Given the description of an element on the screen output the (x, y) to click on. 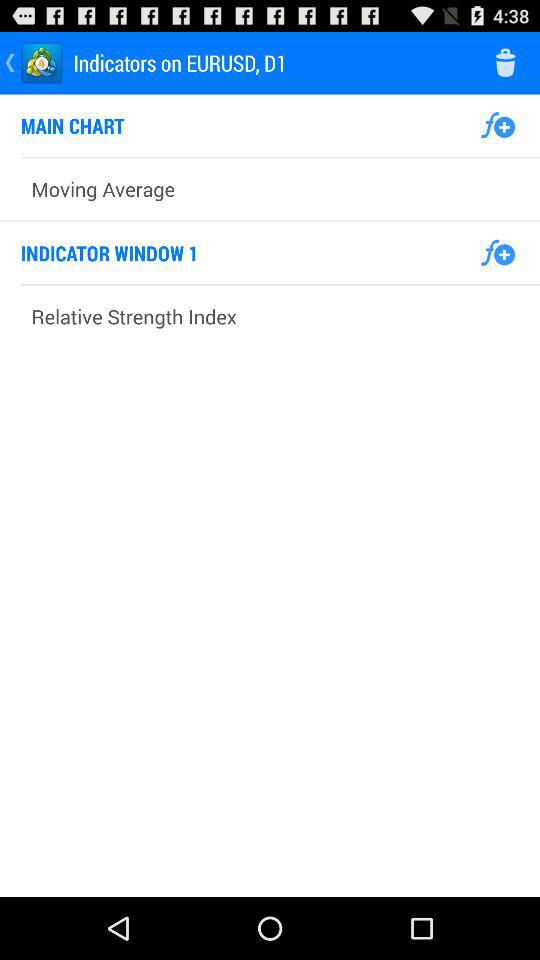
add indicator window (498, 253)
